Given the description of an element on the screen output the (x, y) to click on. 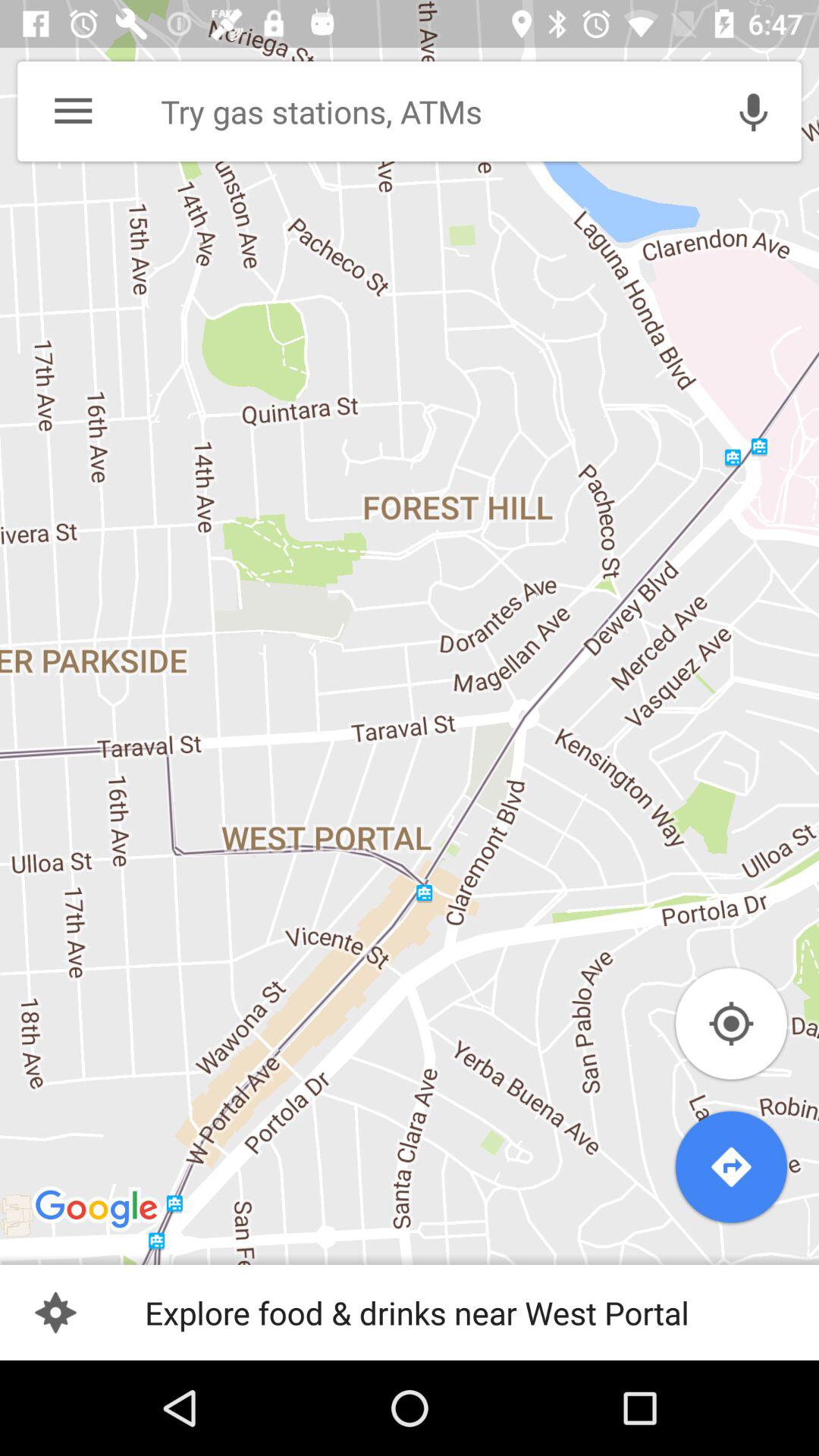
choose location icon (731, 1023)
click on the direction icon (731, 1166)
select the microphone option (753, 111)
choose the search field right side of menu icon (425, 111)
click on the horizontal lines beside try (73, 111)
click on the directions icon below the location icon (731, 1166)
